Given the description of an element on the screen output the (x, y) to click on. 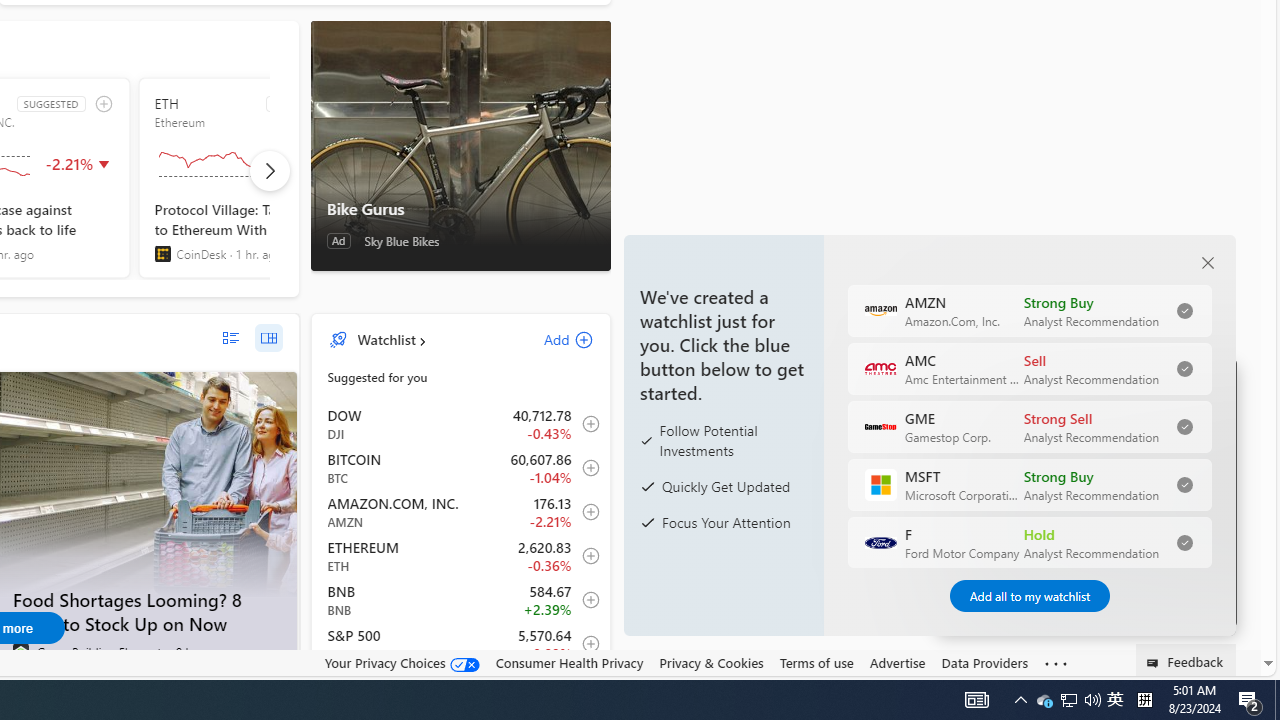
Add to Watchlist (585, 643)
BTC Bitcoin decrease 60,607.86 -629.74 -1.04% item1 (461, 467)
CoinDesk (162, 254)
Class: oneFooter_seeMore-DS-EntryPoint1-1 (1055, 663)
BNB BNB increase 584.67 +13.99 +2.39% item4 (461, 600)
Bike Gurus (459, 145)
DJI DOW decrease 40,712.78 -177.71 -0.43% item0 (461, 423)
Class: feedback_link_icon-DS-EntryPoint1-1 (1156, 663)
Data Providers (983, 662)
INX S&P 500 decrease 5,570.64 -50.21 -0.89% item5 (461, 644)
